Given the description of an element on the screen output the (x, y) to click on. 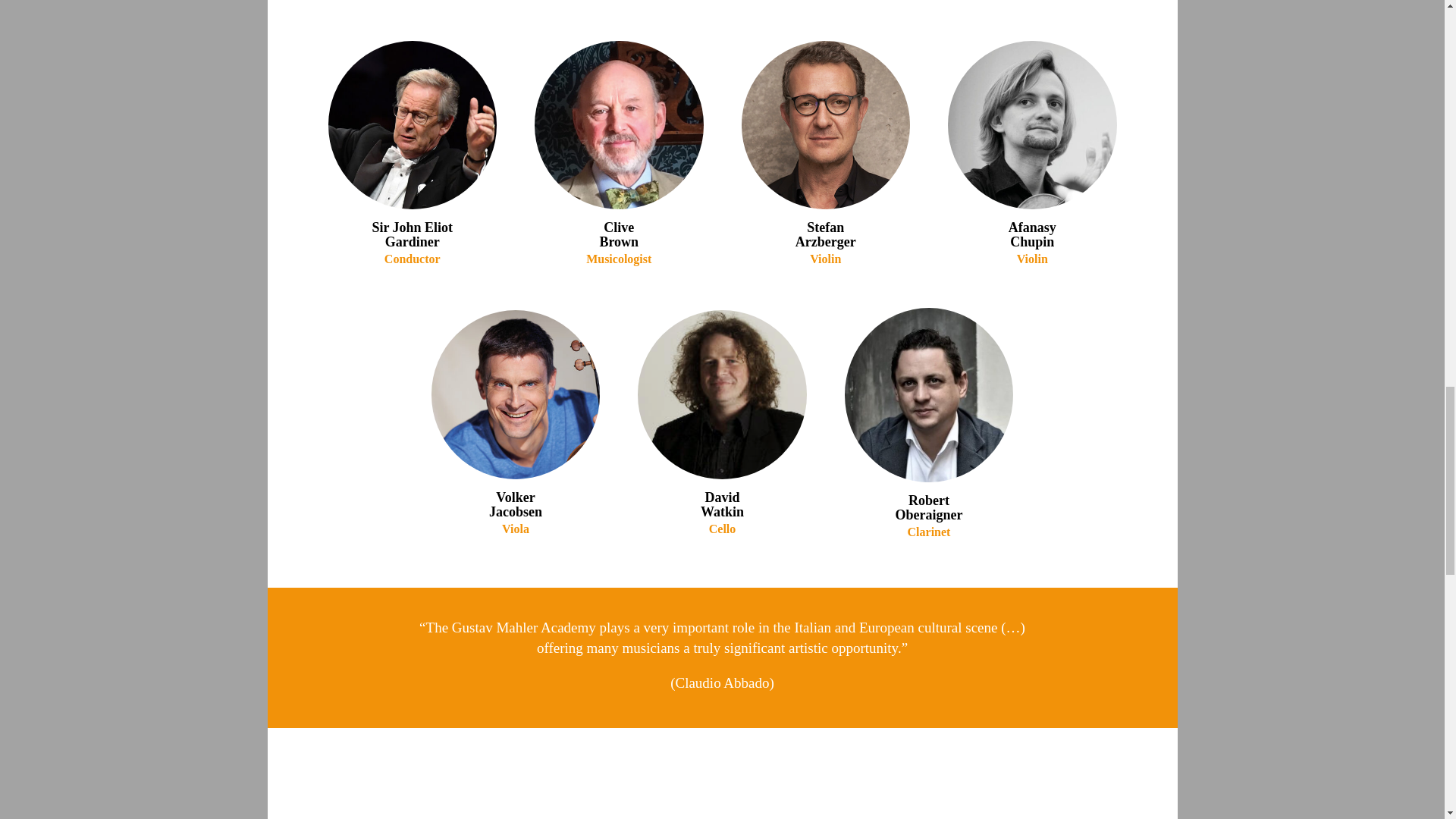
Arzberger nnuff (826, 124)
Progetto Ritaglia immagined (721, 394)
Oberaigner (928, 394)
